Given the description of an element on the screen output the (x, y) to click on. 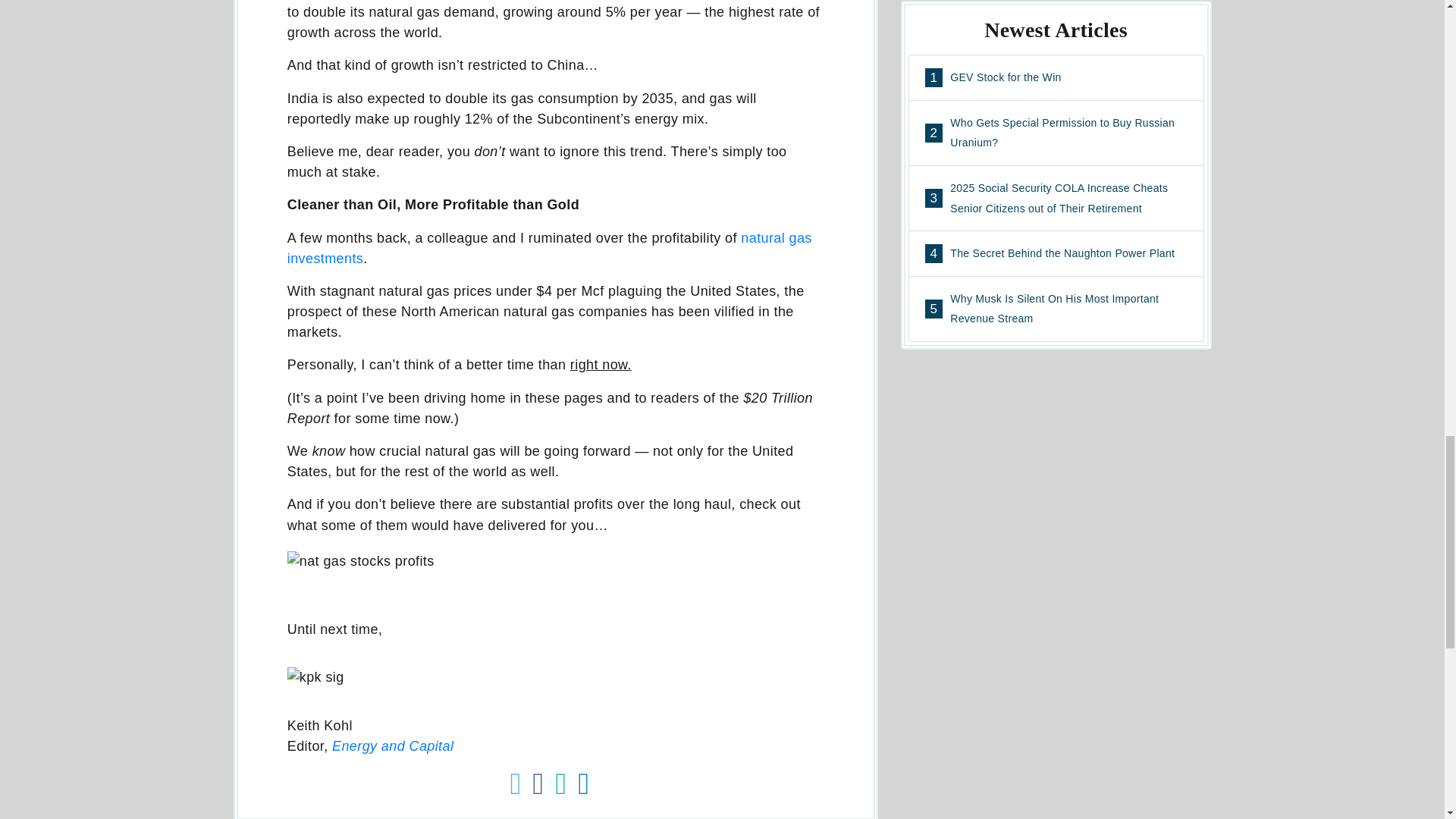
natural gas investments (549, 248)
Energy and Capital (391, 745)
